Given the description of an element on the screen output the (x, y) to click on. 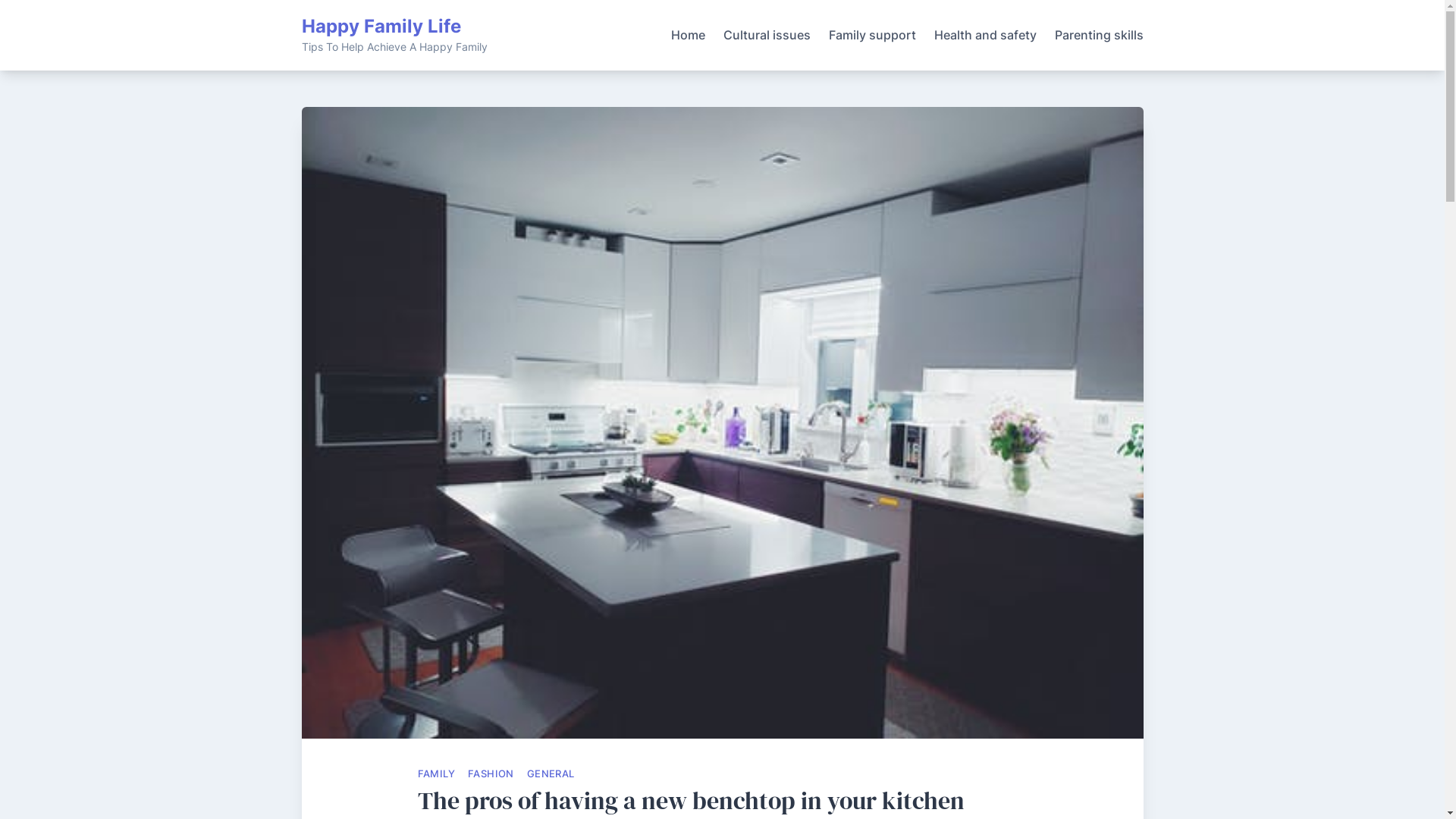
Parenting skills Element type: text (1098, 35)
FAMILY Element type: text (435, 773)
Happy Family Life Element type: text (381, 26)
Home Element type: text (687, 35)
FASHION Element type: text (490, 773)
GENERAL Element type: text (550, 773)
Cultural issues Element type: text (766, 35)
Health and safety Element type: text (985, 35)
Family support Element type: text (871, 35)
